Given the description of an element on the screen output the (x, y) to click on. 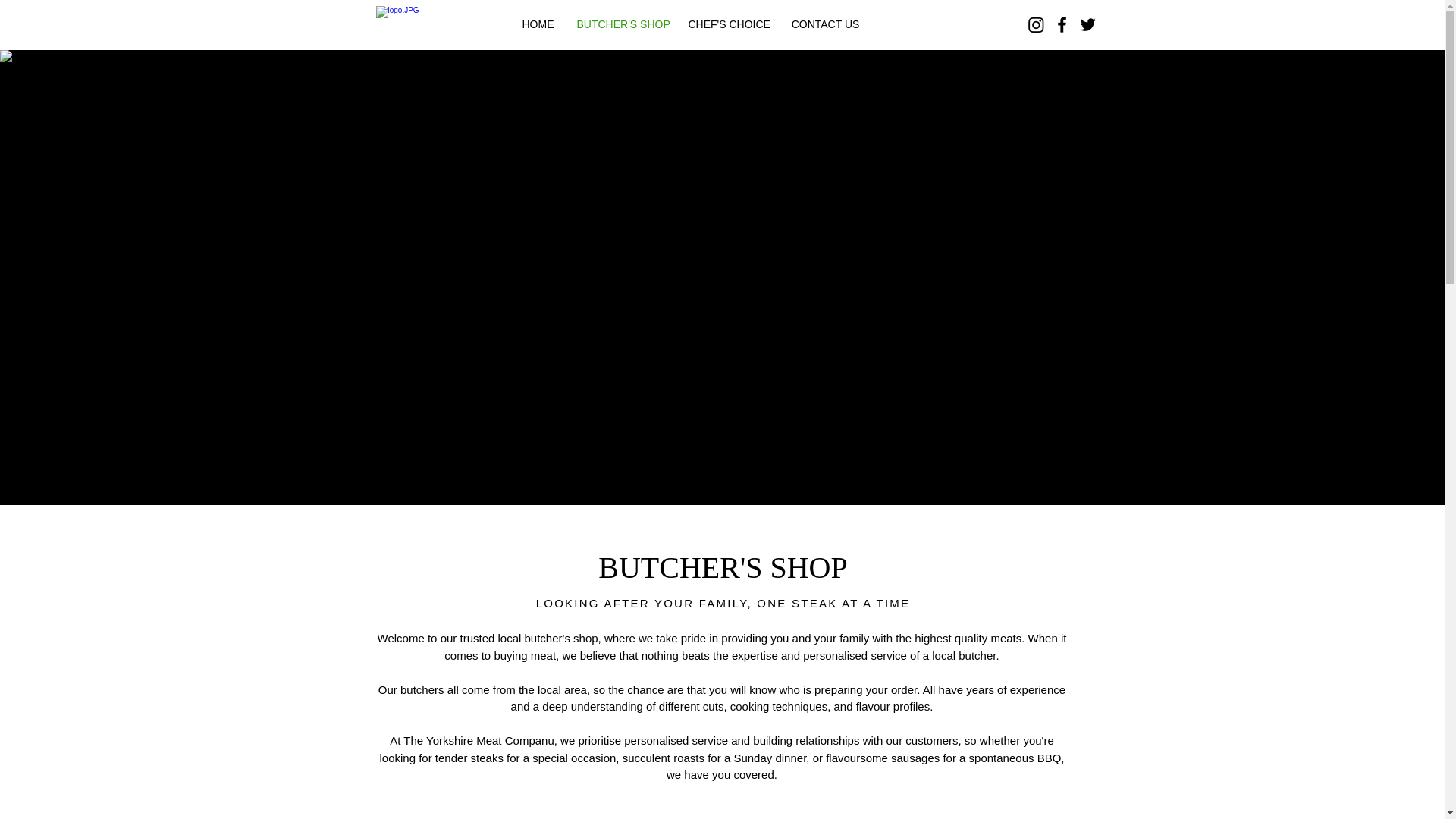
CHEF'S CHOICE (727, 24)
CONTACT US (824, 24)
HOME (538, 24)
BUTCHER'S SHOP (621, 24)
